Given the description of an element on the screen output the (x, y) to click on. 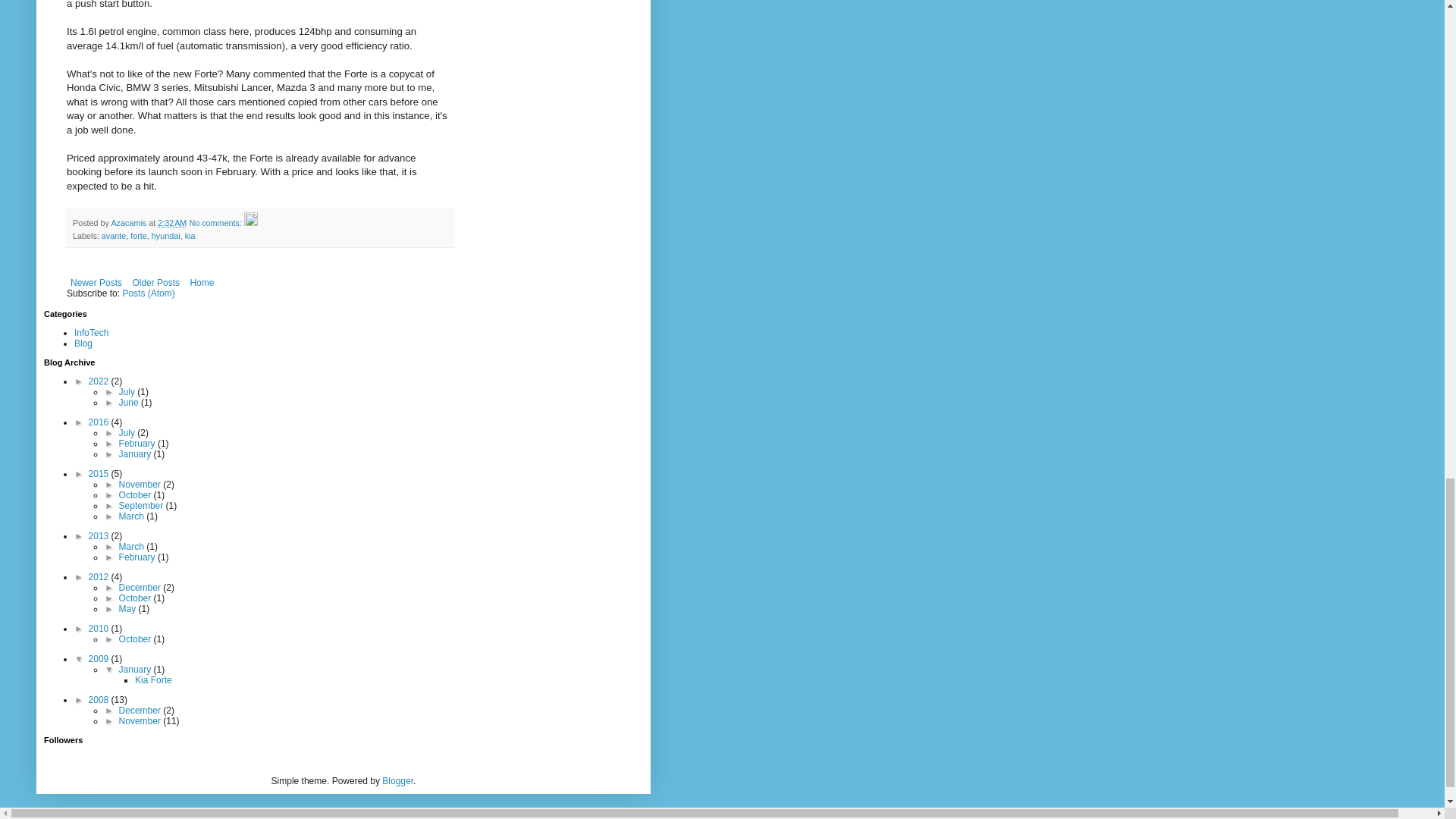
February (138, 443)
Newer Posts (95, 282)
Azacamis (129, 222)
January (136, 453)
July (128, 432)
November (141, 484)
forte (139, 235)
June (130, 402)
kia (189, 235)
avante (113, 235)
InfoTech (90, 332)
2016 (100, 421)
Home (201, 282)
hyundai (165, 235)
2022 (100, 380)
